Given the description of an element on the screen output the (x, y) to click on. 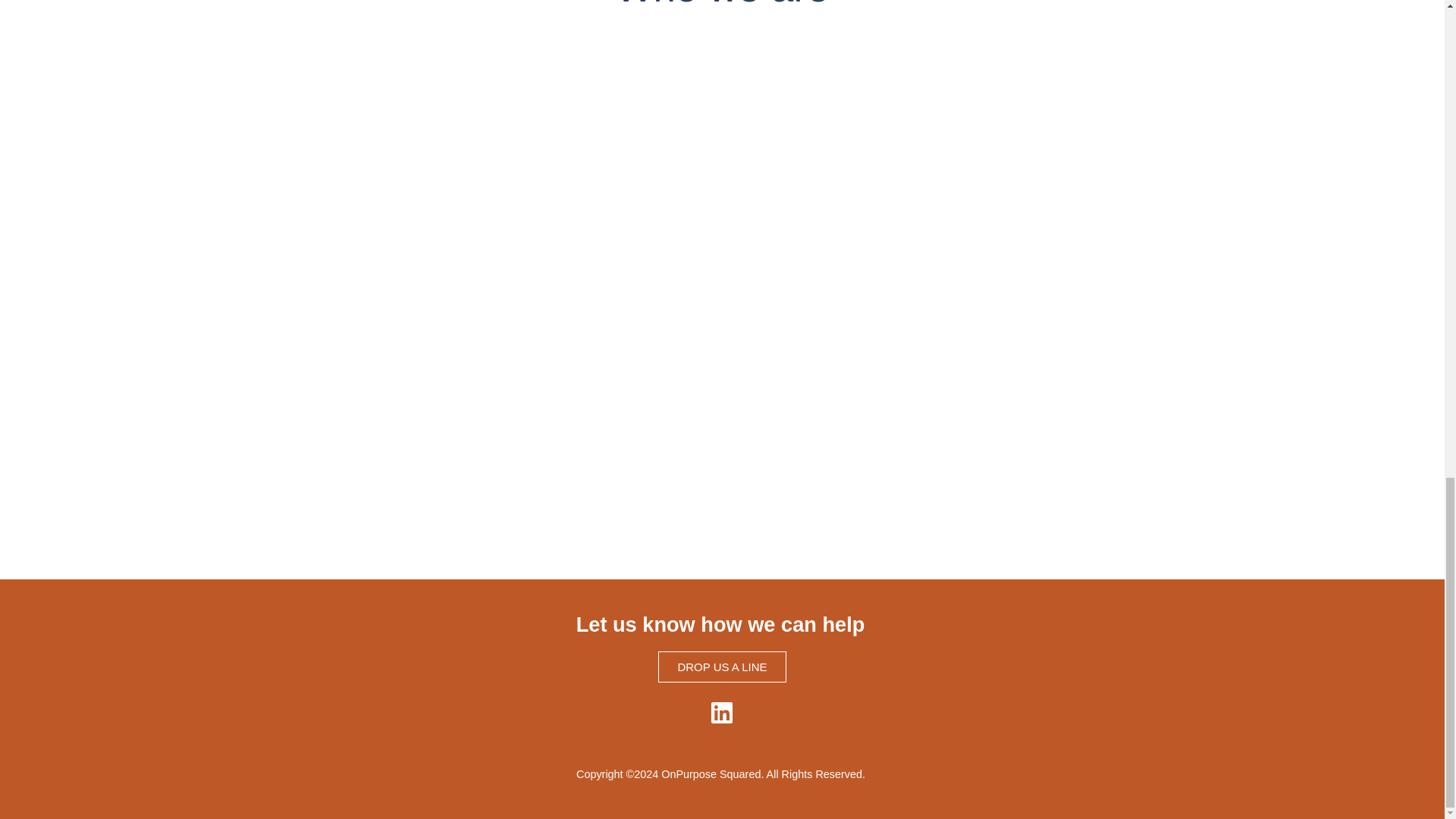
DROP US A LINE (722, 666)
